Given the description of an element on the screen output the (x, y) to click on. 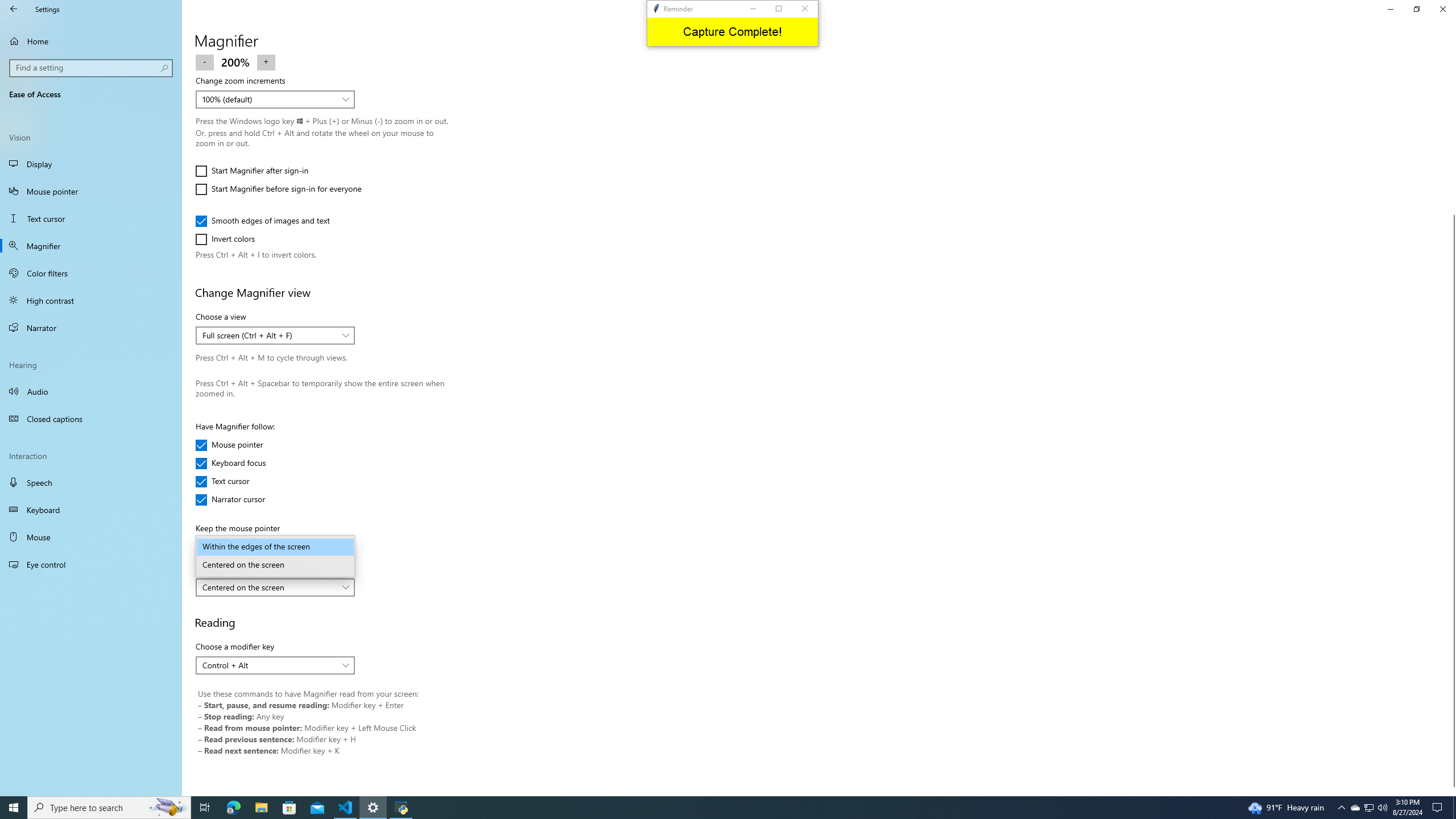
Text cursor (91, 217)
Restore Settings (1416, 9)
Vertical Small Decrease (1451, 58)
Task View (204, 807)
100% (default) (269, 99)
Audio (91, 390)
Speech (91, 482)
Keep the mouse pointer (275, 547)
Narrator (91, 327)
High contrast (91, 299)
Minimize Settings (1390, 9)
User Promoted Notification Area (1368, 807)
Smooth edges of images and text (262, 221)
Q2790: 100% (1382, 807)
Mouse (91, 536)
